Given the description of an element on the screen output the (x, y) to click on. 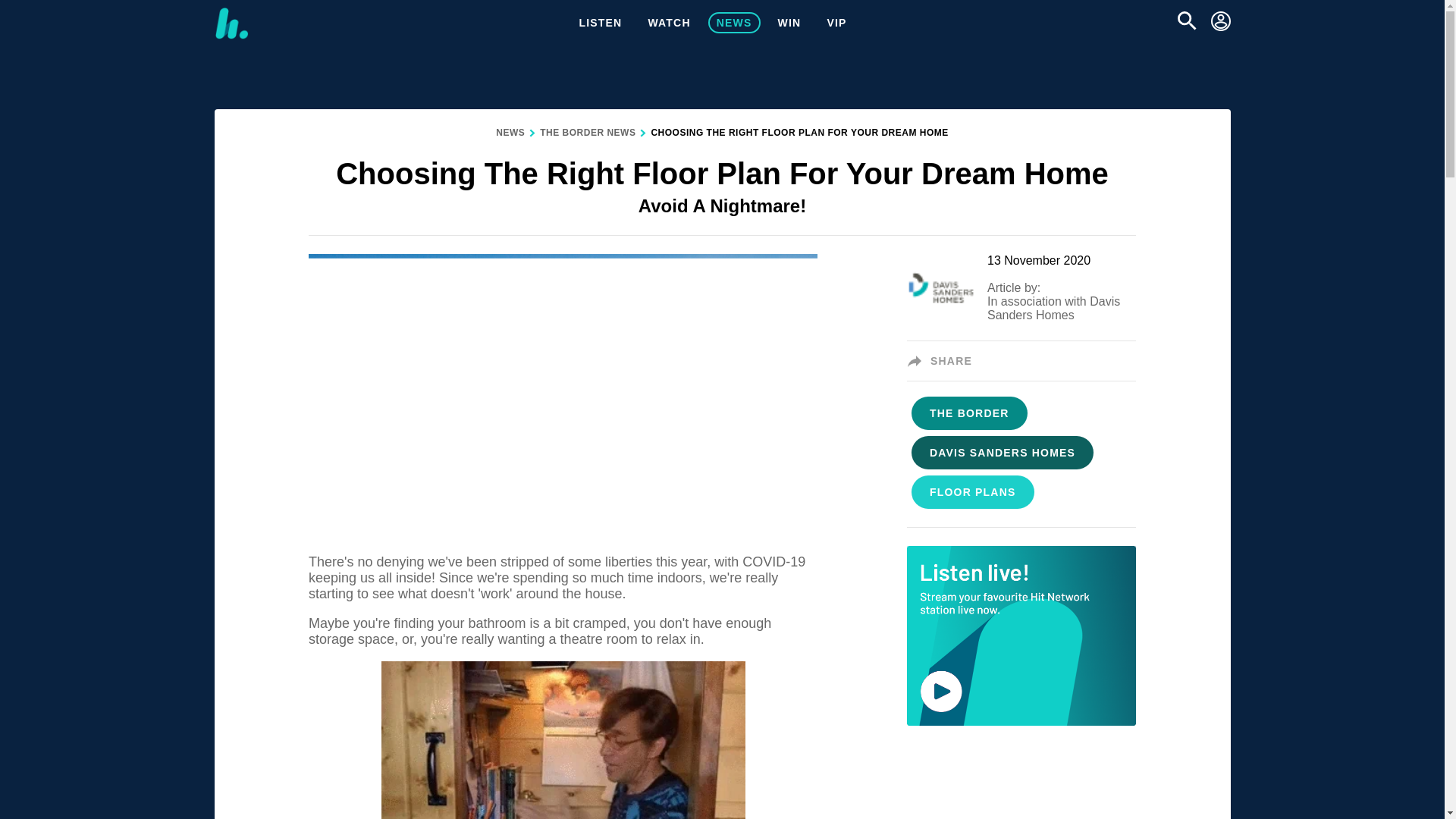
THE BORDER (969, 413)
CHOOSING THE RIGHT FLOOR PLAN FOR YOUR DREAM HOME (798, 132)
Hit Network (230, 22)
NEWS (510, 132)
LISTEN (600, 22)
THE BORDER NEWS (587, 132)
DAVIS SANDERS HOMES (1002, 452)
WIN (789, 22)
SHARE (944, 360)
NEWS (733, 22)
WATCH (668, 22)
VIP (836, 22)
FLOOR PLANS (973, 492)
